Given the description of an element on the screen output the (x, y) to click on. 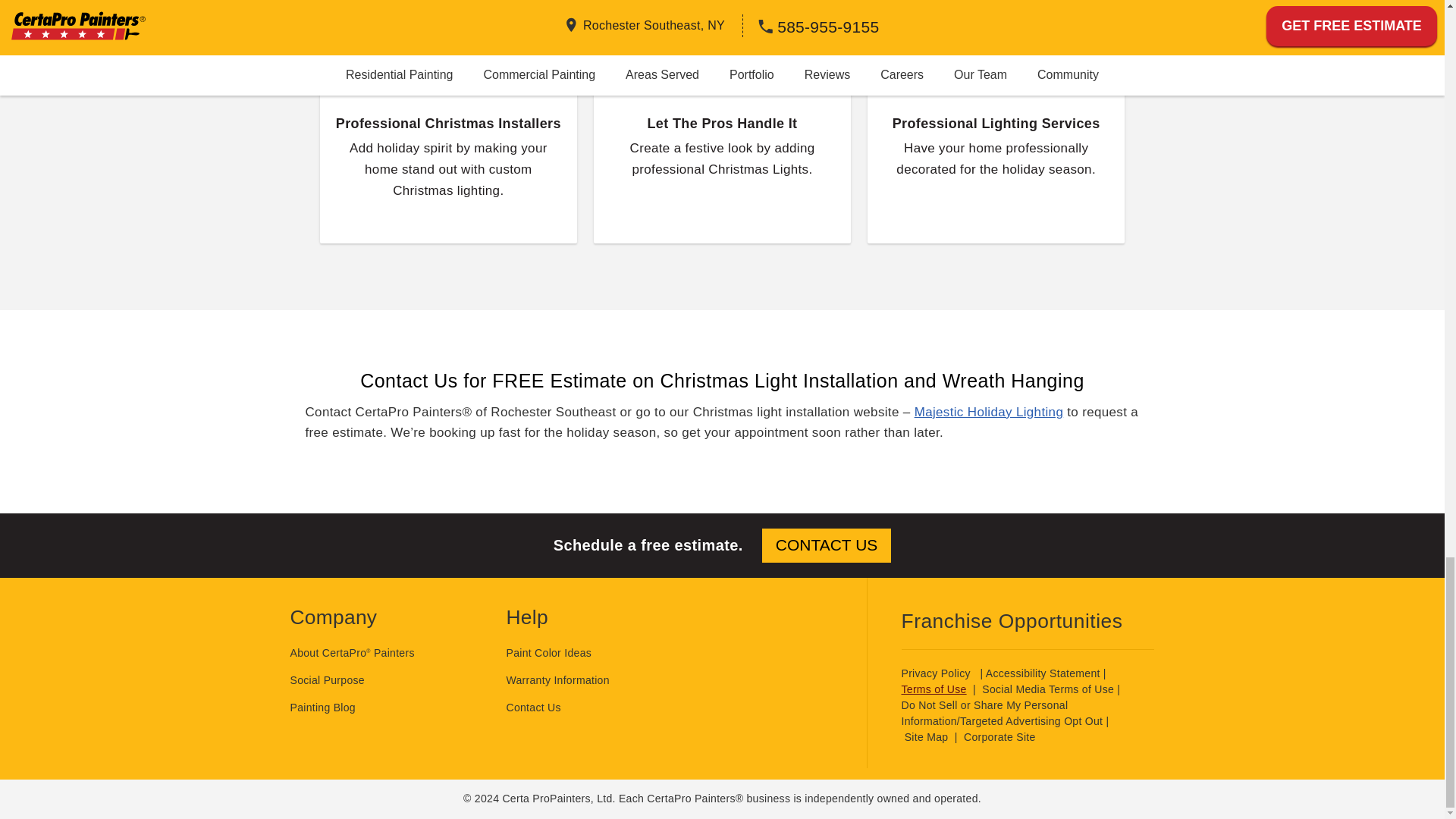
CONTACT US (826, 545)
